Given the description of an element on the screen output the (x, y) to click on. 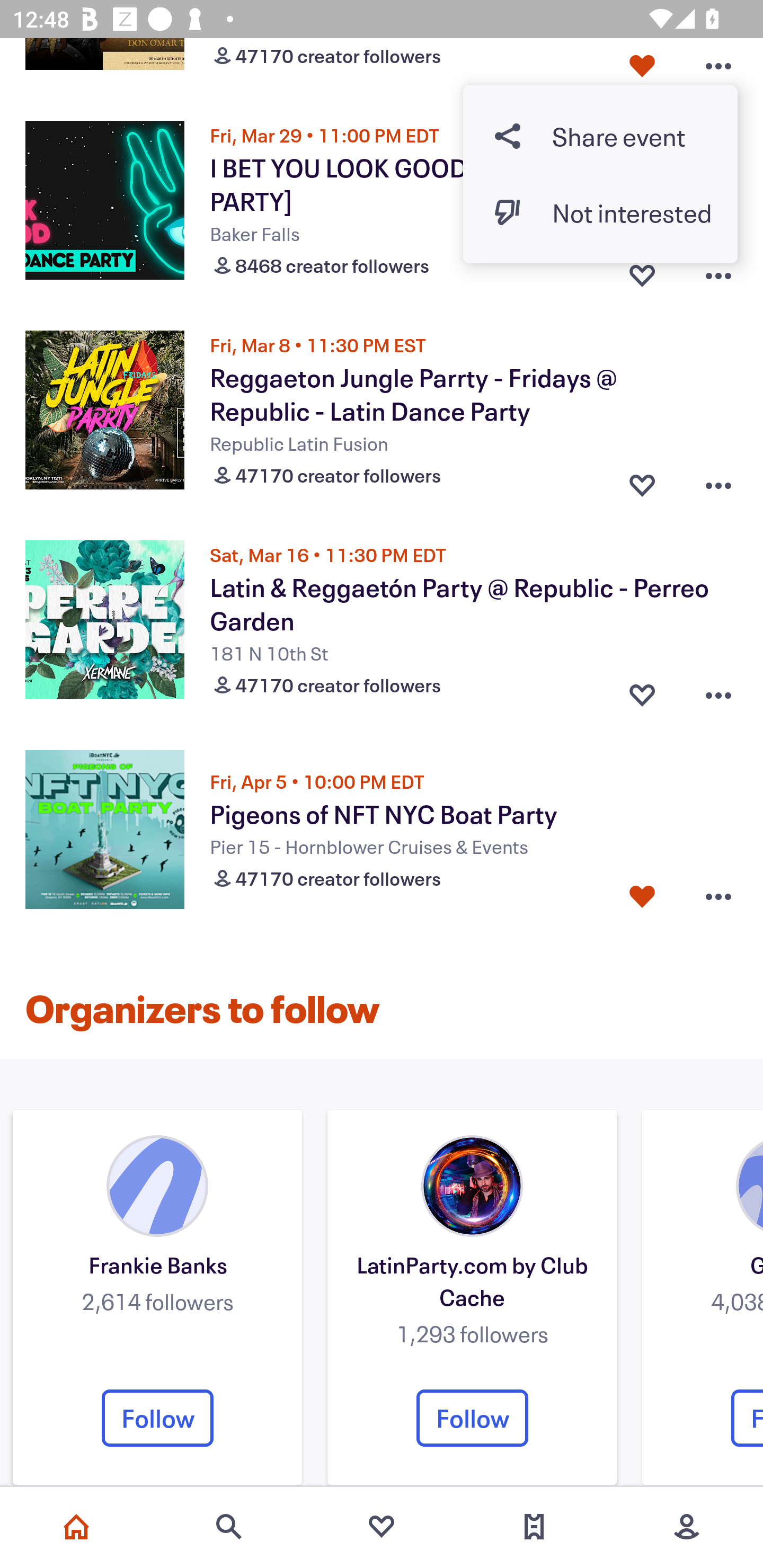
Share button Share event (600, 135)
Dislike event button Not interested (600, 212)
